Given the description of an element on the screen output the (x, y) to click on. 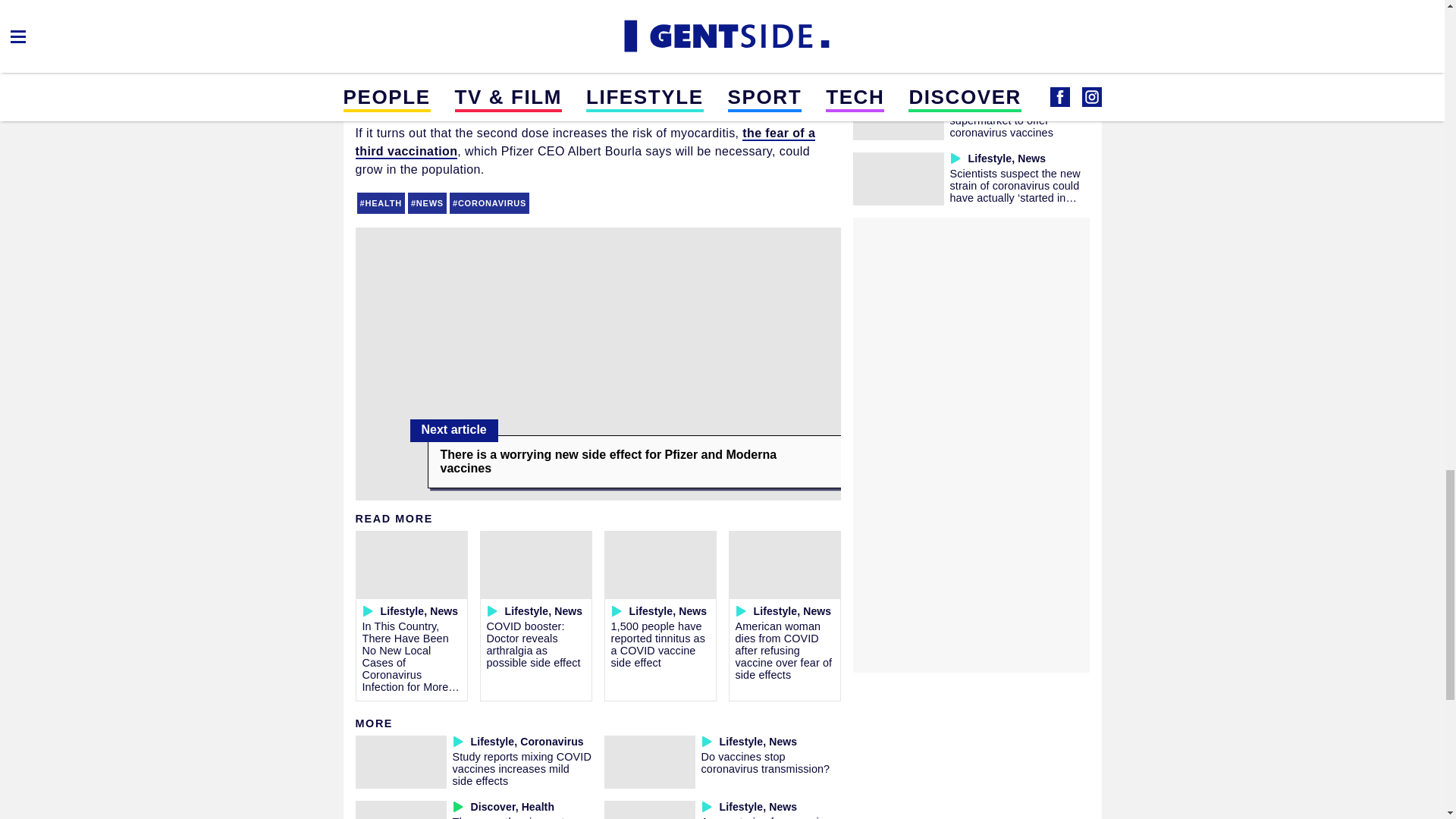
the fear of a third vaccination (585, 142)
Do vaccines stop coronavirus transmission? (764, 762)
CORONAVIRUS (489, 202)
NEWS (426, 202)
